Given the description of an element on the screen output the (x, y) to click on. 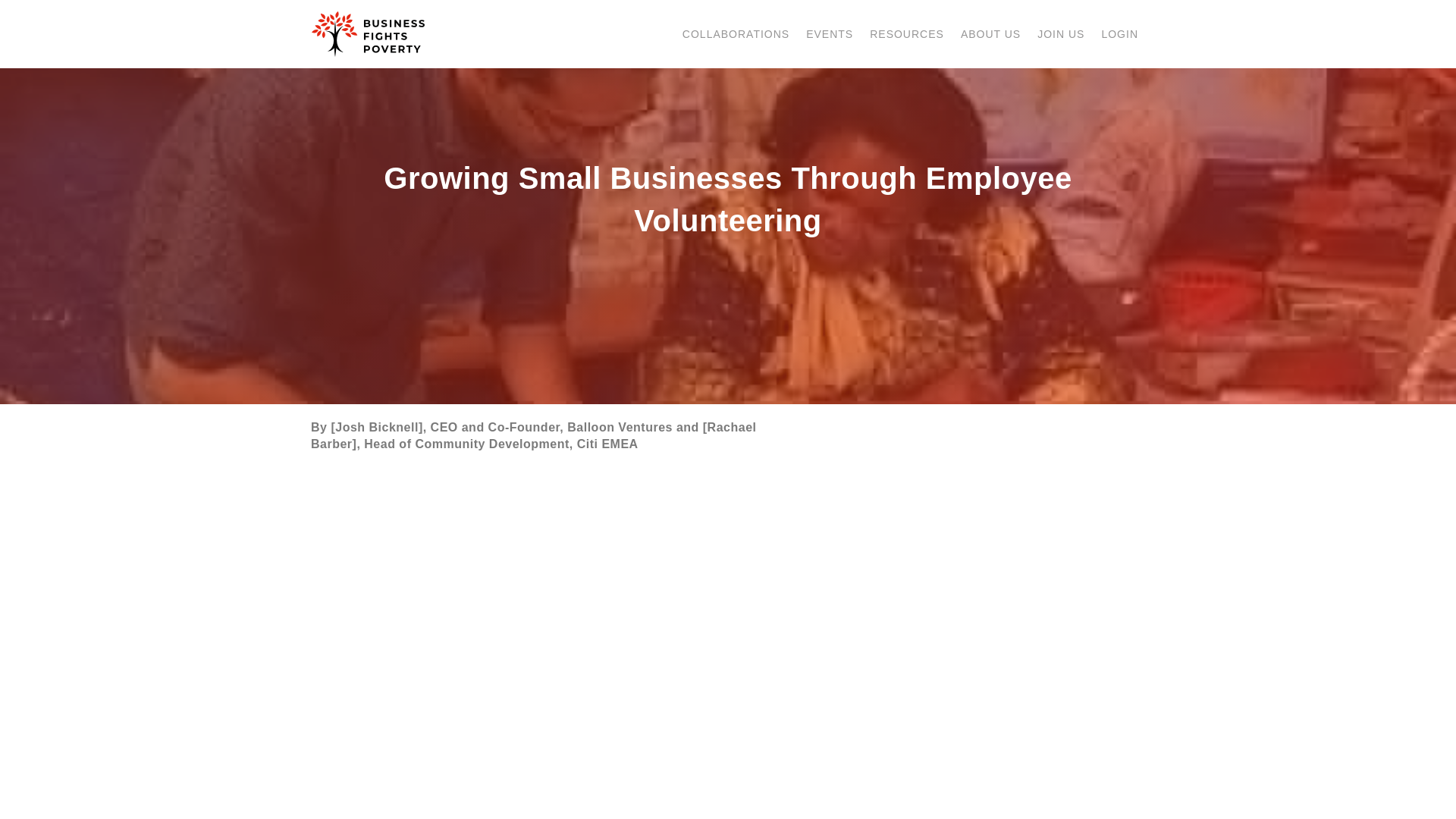
LOGIN (1120, 33)
RESOURCES (906, 33)
COLLABORATIONS (735, 33)
EVENTS (829, 33)
JOIN US (1061, 33)
ABOUT US (990, 33)
